Given the description of an element on the screen output the (x, y) to click on. 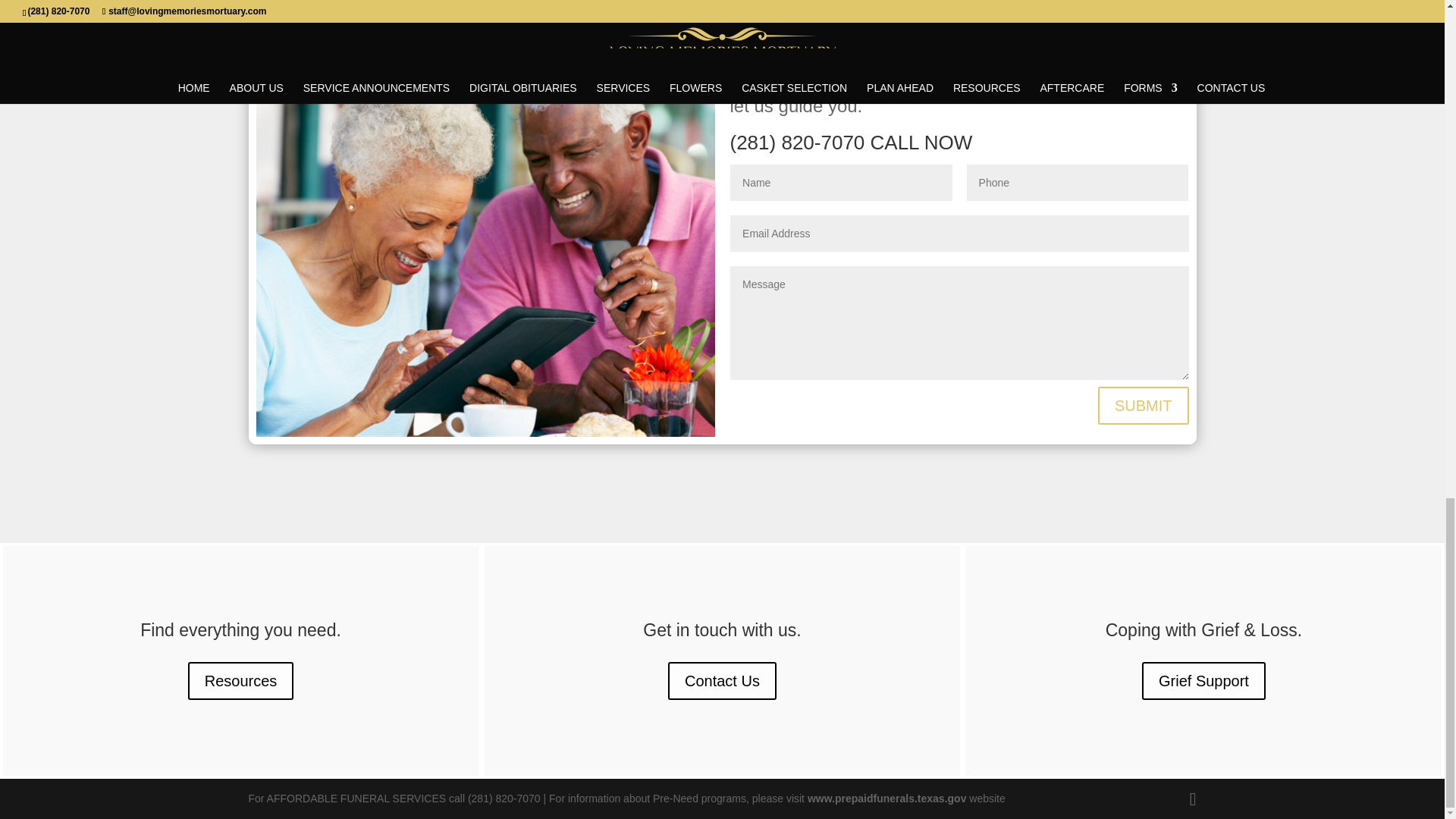
Resources (240, 679)
www.prepaidfunerals.texas.gov (887, 797)
Grief Support (1203, 679)
Contact Us (722, 679)
SUBMIT (1143, 405)
